Given the description of an element on the screen output the (x, y) to click on. 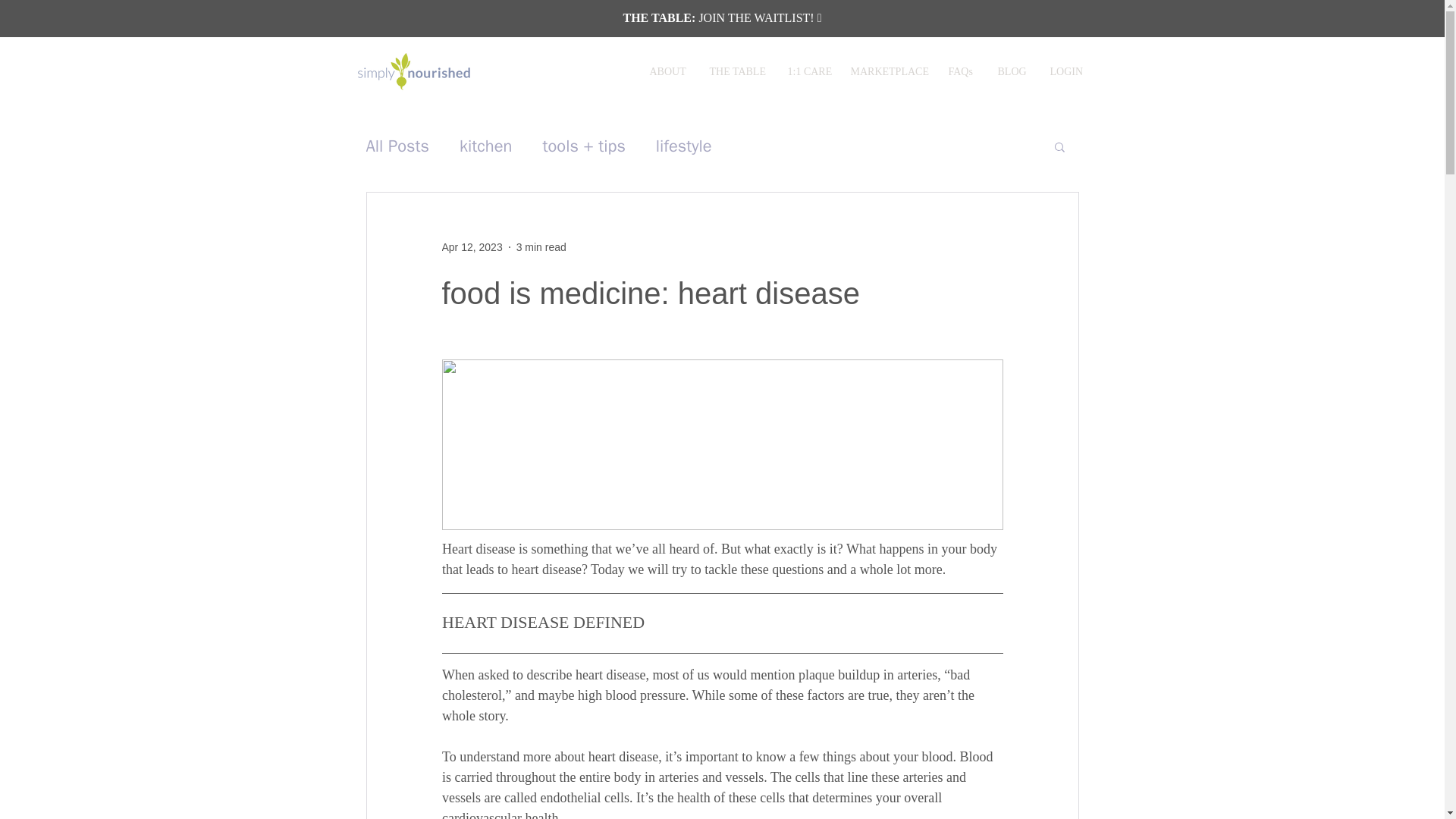
MARKETPLACE (887, 71)
FAQs (962, 71)
BLOG (1011, 71)
1:1 CARE (808, 71)
kitchen (486, 146)
Apr 12, 2023 (471, 246)
ABOUT (668, 71)
lifestyle (683, 146)
THE TABLE (736, 71)
All Posts (397, 146)
